Given the description of an element on the screen output the (x, y) to click on. 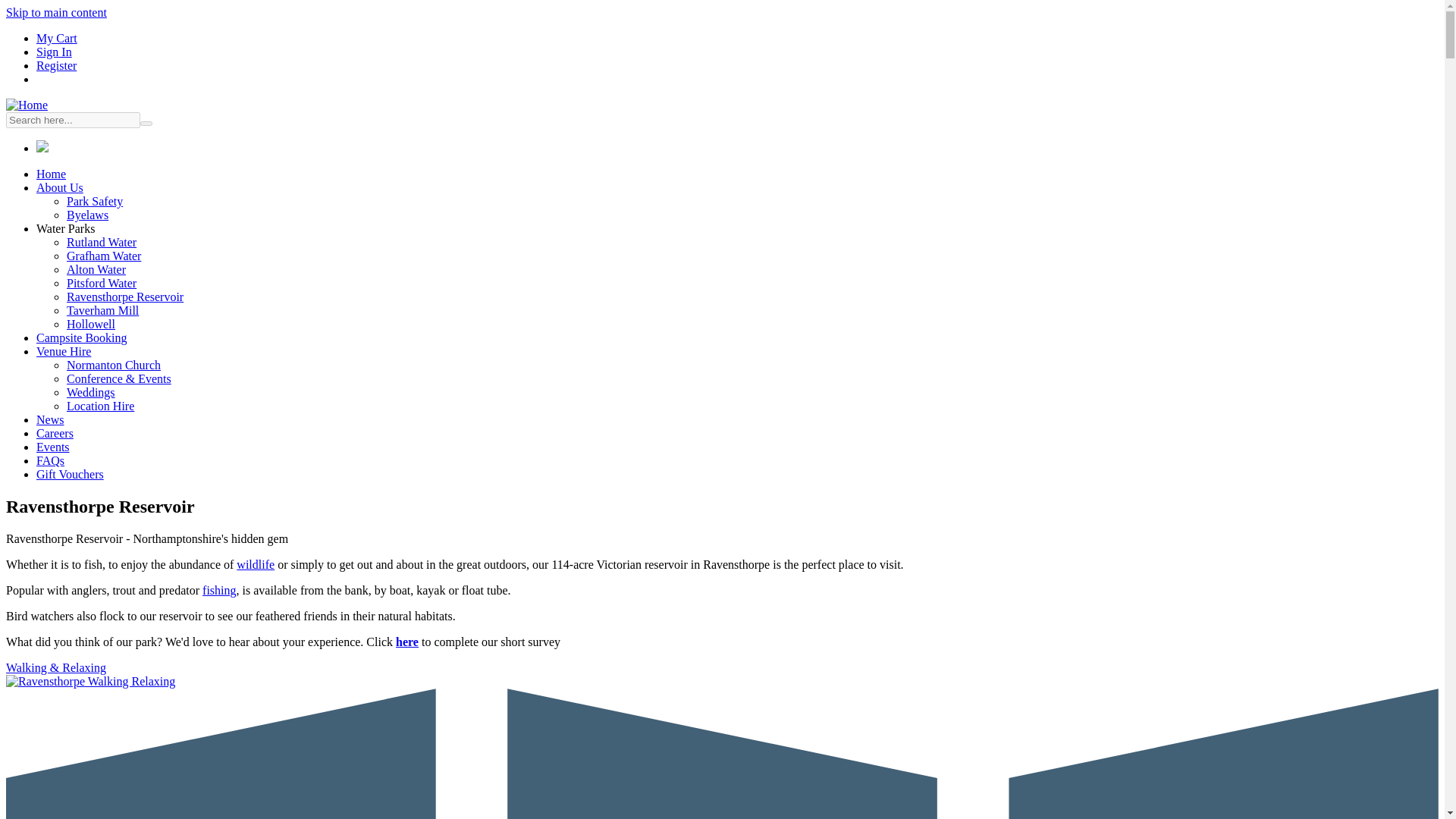
here (407, 641)
search the anglian water site (72, 119)
Gift Vouchers (69, 473)
wildlife (255, 563)
Taverham Mill (102, 309)
fishing (218, 590)
Sign In (53, 51)
Grafham Water (103, 255)
Home (50, 173)
About Us (59, 187)
